Given the description of an element on the screen output the (x, y) to click on. 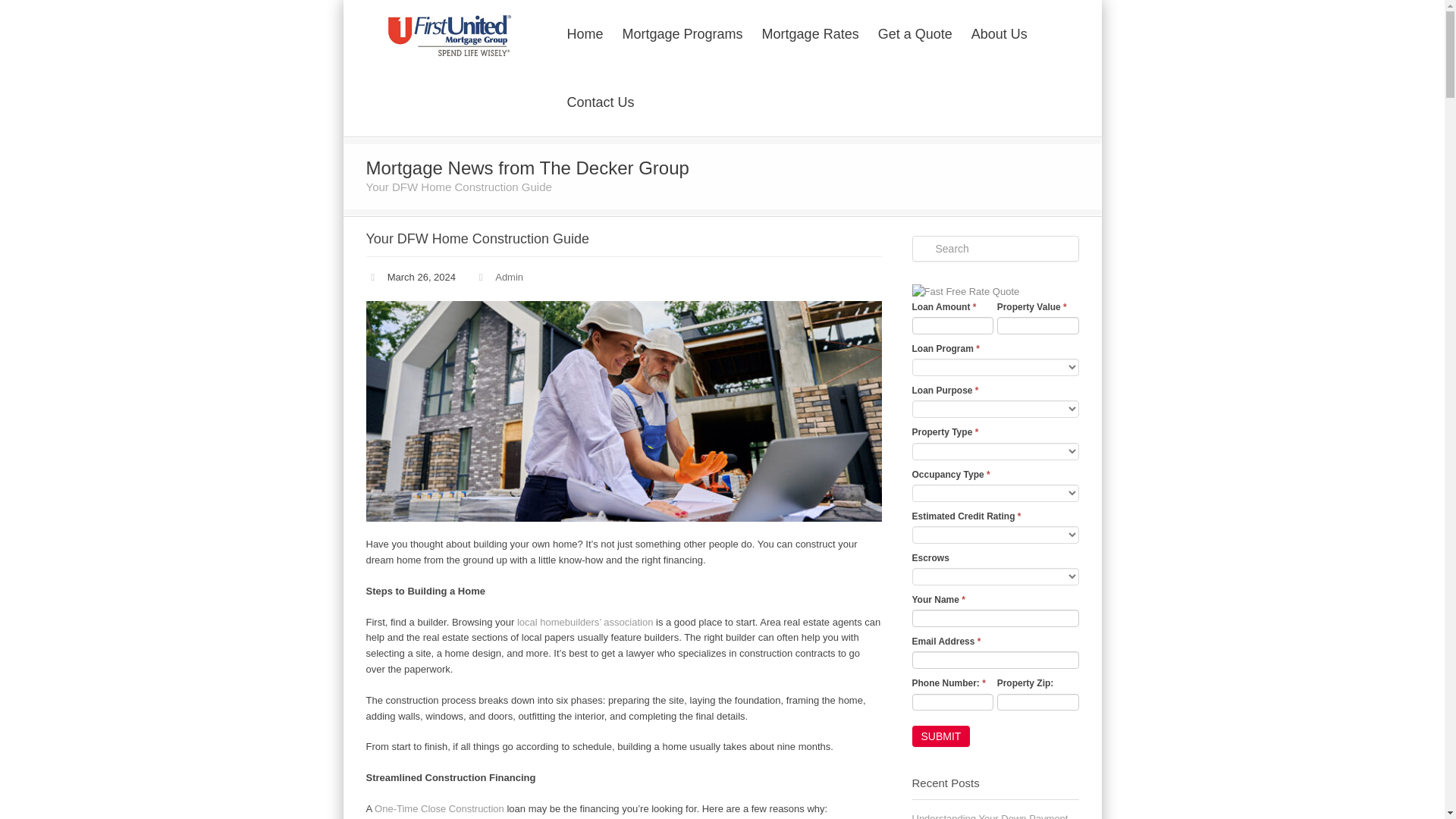
Submit (940, 735)
Search (994, 248)
Your DFW Home Construction Guide (622, 411)
Mortgage Rates (810, 33)
Get a Quote (914, 33)
Contact Us (600, 100)
Admin (508, 276)
View all posts by Admin (508, 276)
One-Time Close Construction (438, 808)
Mortgage Programs (682, 33)
